Given the description of an element on the screen output the (x, y) to click on. 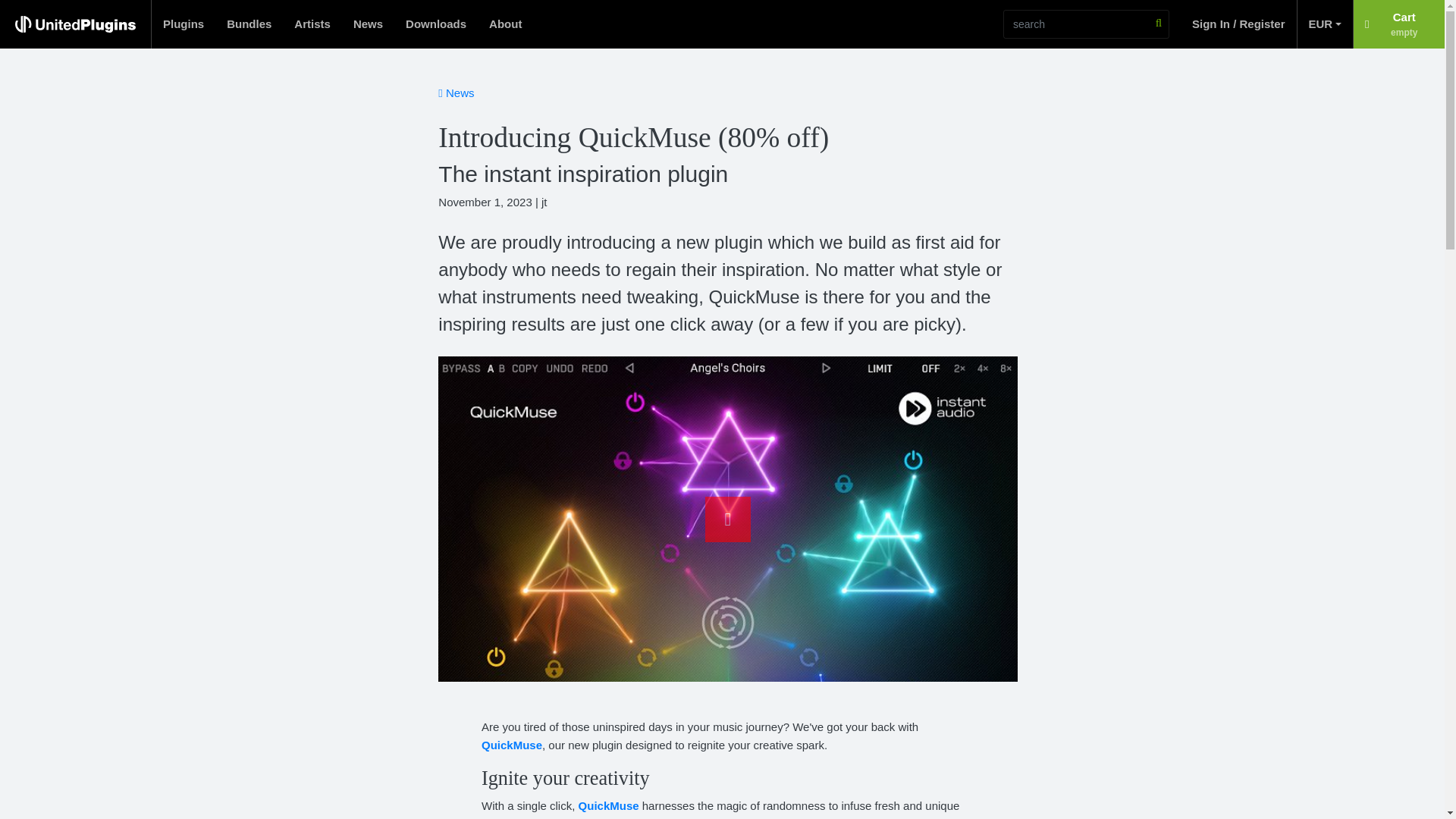
Artists (312, 24)
About (504, 24)
Downloads (1399, 24)
Plugins (435, 24)
Bundles (183, 24)
EUR (248, 24)
News (1324, 24)
